Given the description of an element on the screen output the (x, y) to click on. 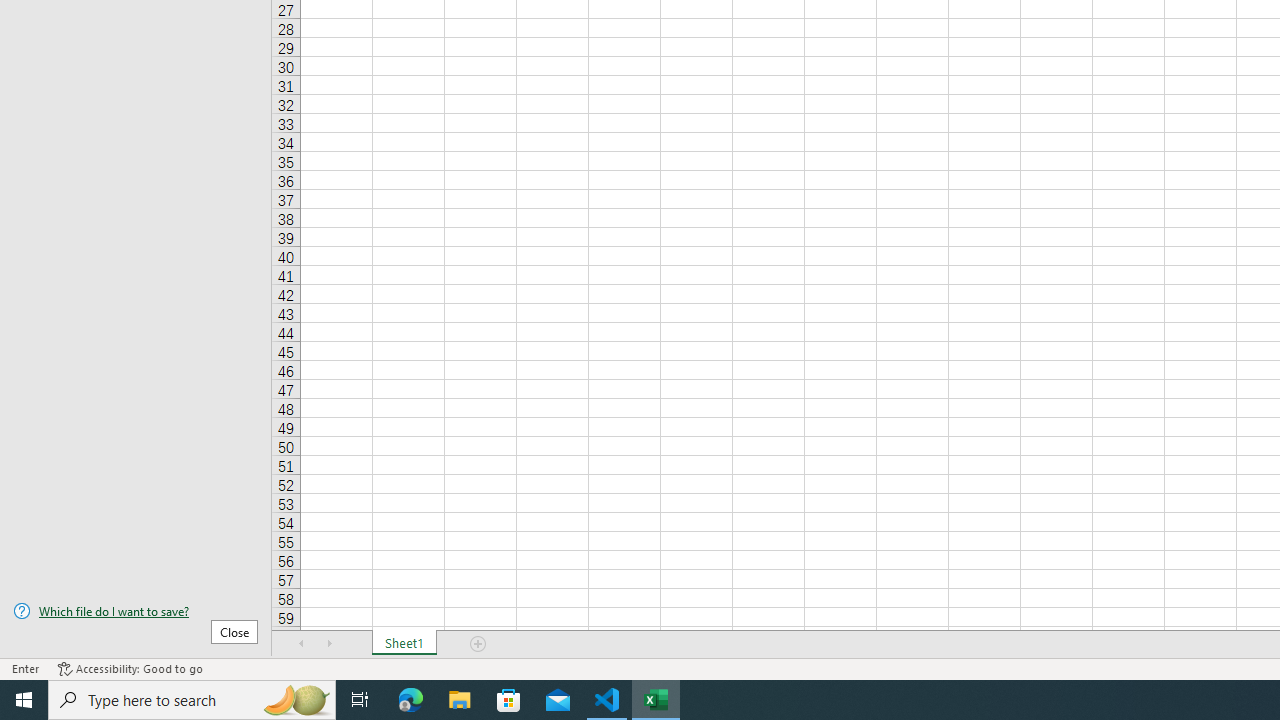
Scroll Right (330, 644)
Accessibility Checker Accessibility: Good to go (130, 668)
Which file do I want to save? (136, 611)
Scroll Left (302, 644)
Add Sheet (478, 644)
Sheet1 (404, 644)
